Given the description of an element on the screen output the (x, y) to click on. 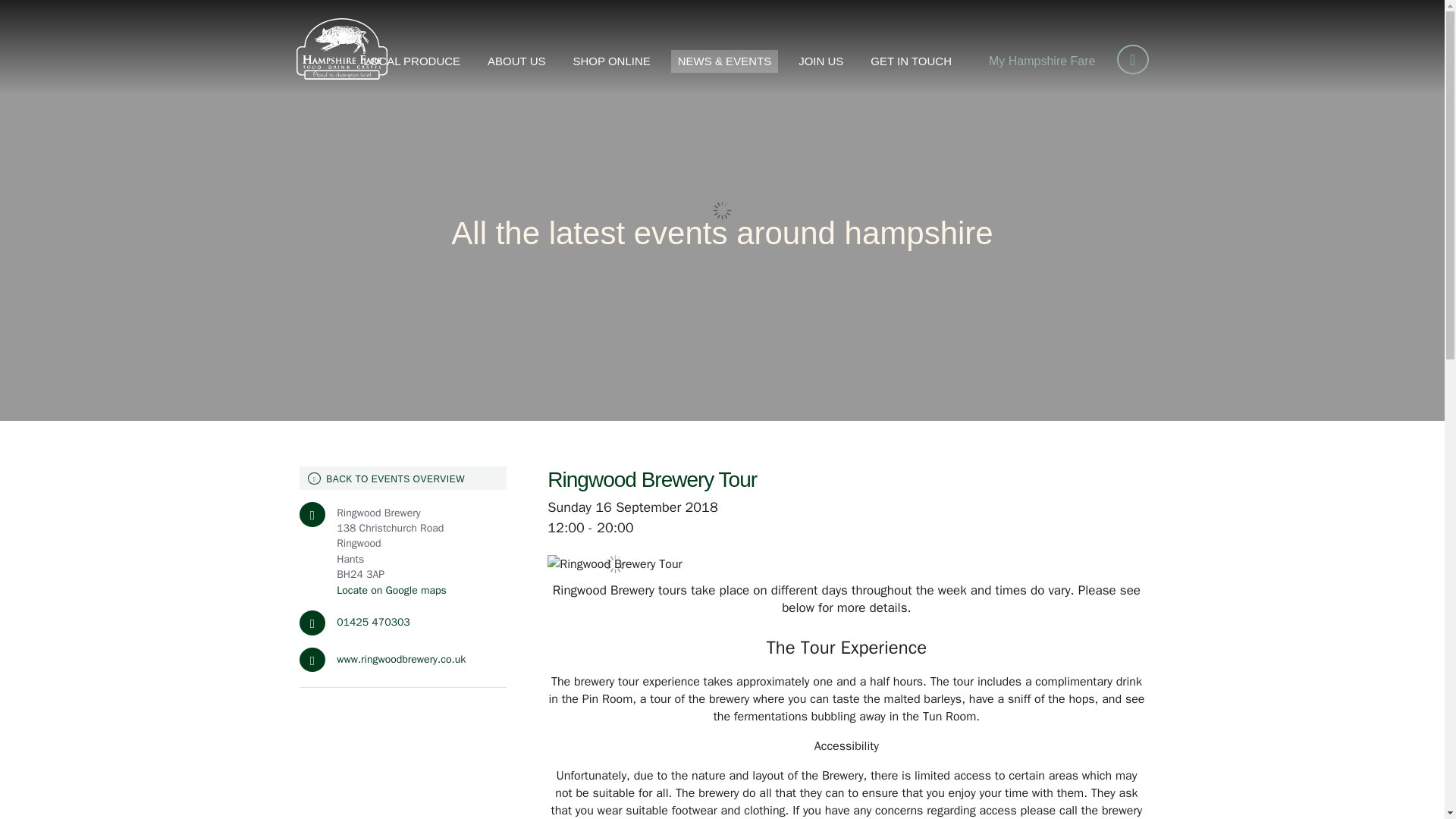
GET IN TOUCH (910, 60)
JOIN US (821, 60)
SHOP ONLINE (612, 60)
LOCAL PRODUCE (411, 60)
ABOUT US (515, 60)
